Given the description of an element on the screen output the (x, y) to click on. 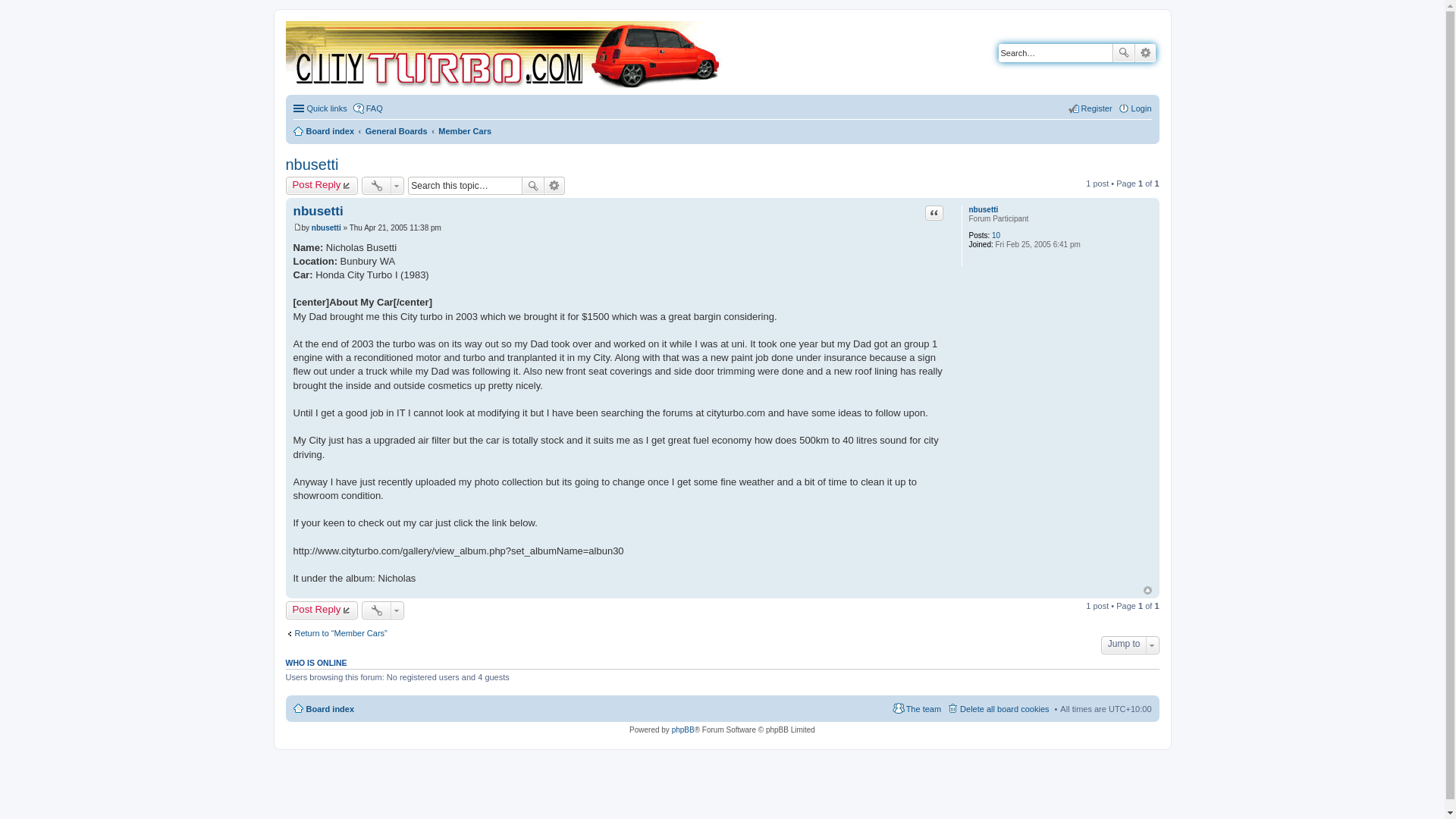
Advanced search (554, 185)
Member Cars (465, 131)
Login (1134, 108)
Topic tools (382, 185)
Quick links (319, 108)
Board index (322, 131)
Board index (503, 56)
General Boards (396, 131)
nbusetti (982, 209)
General Boards (396, 131)
